Given the description of an element on the screen output the (x, y) to click on. 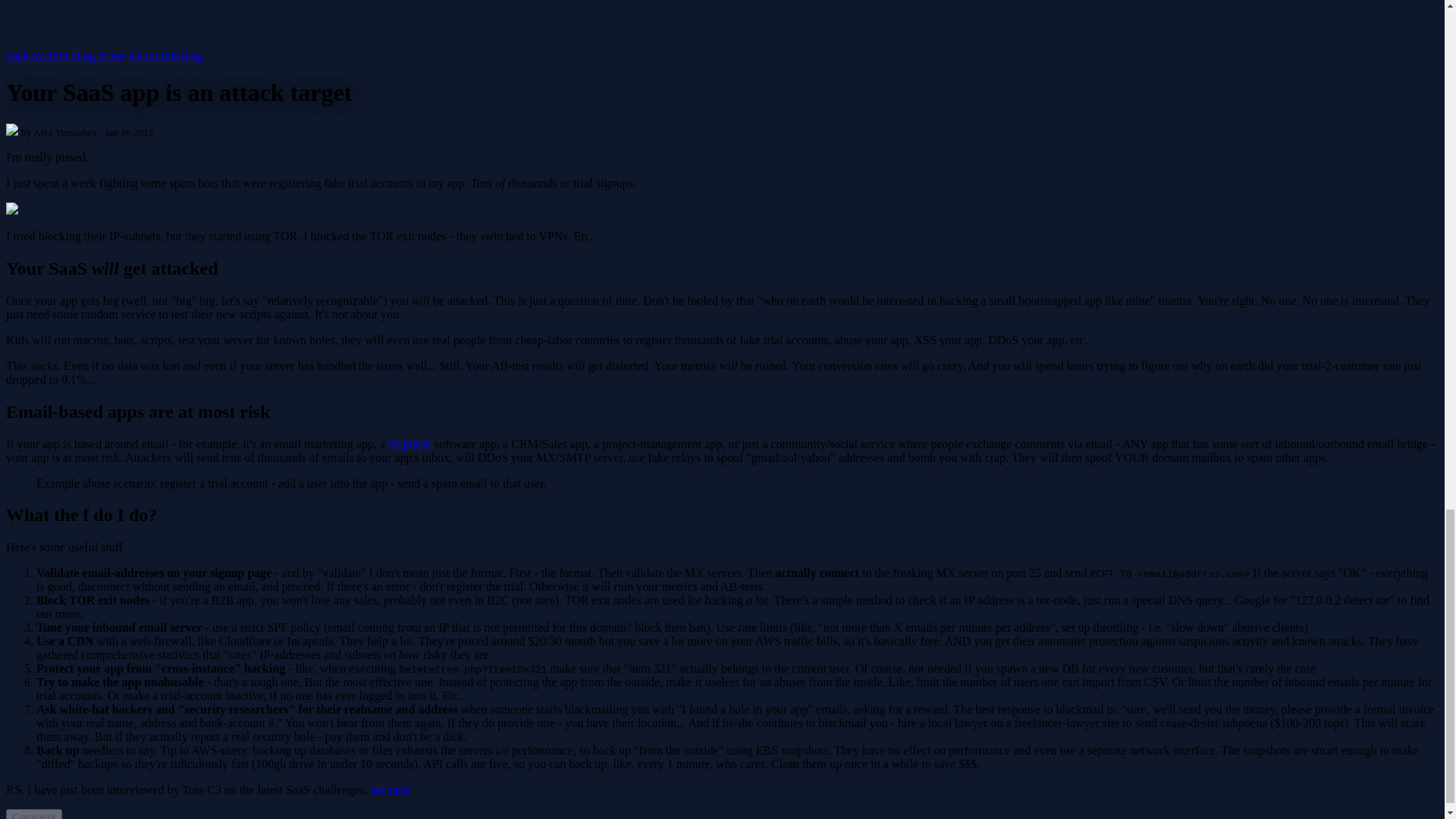
Blog home (98, 55)
helpdesk (409, 442)
see here (390, 789)
About this blog (165, 55)
